Given the description of an element on the screen output the (x, y) to click on. 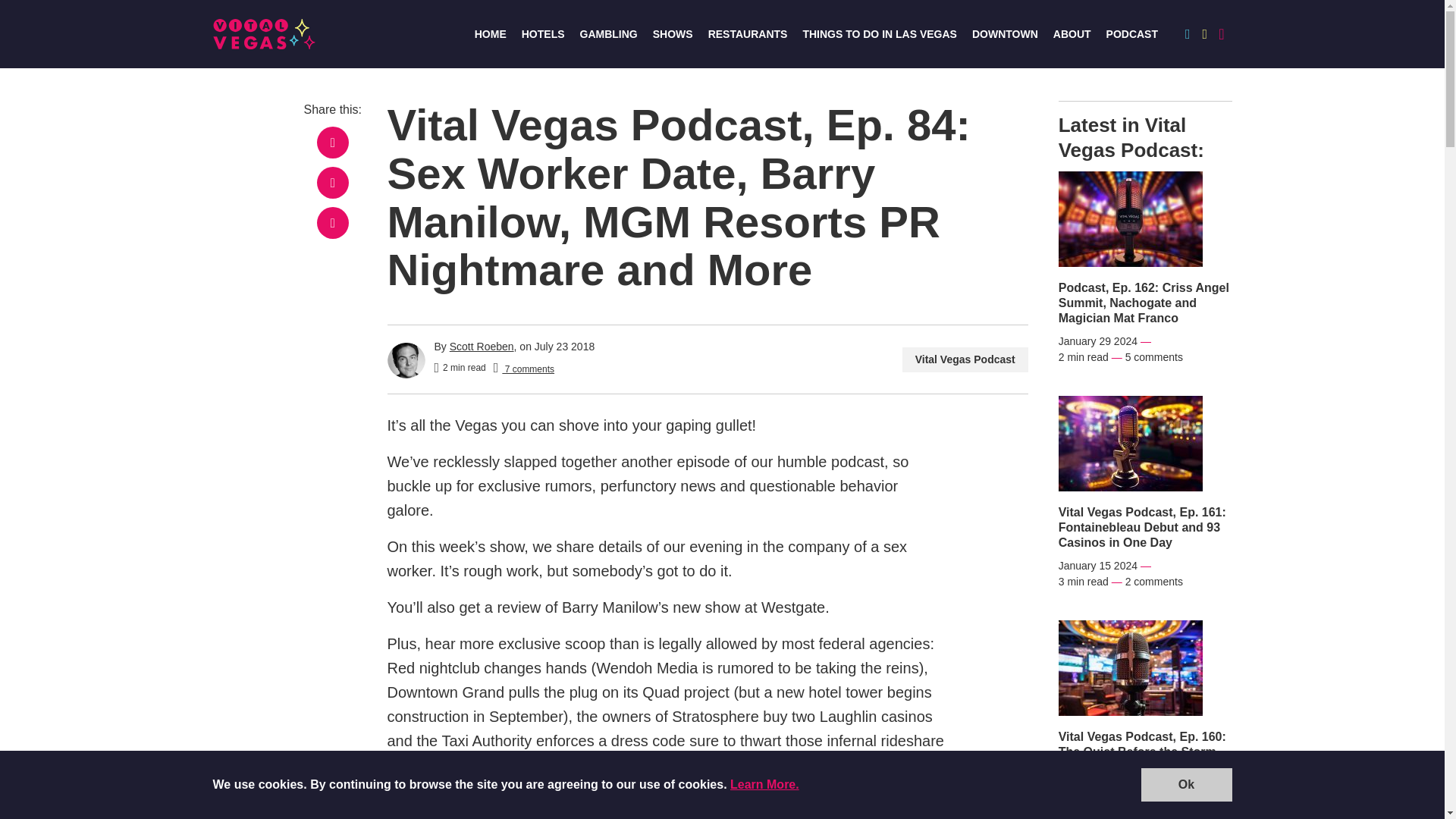
HOME (490, 33)
RESTAURANTS (747, 33)
HOTELS (542, 33)
THINGS TO DO IN LAS VEGAS (879, 33)
ABOUT (1071, 33)
Vital Vegas Podcast (964, 359)
DOWNTOWN (1005, 33)
SHOWS (672, 33)
Vital Vegas Podcast, Ep. 160: The Quiet Before the Storm (1144, 744)
7 comments (523, 367)
GAMBLING (608, 33)
Go (1201, 98)
Scott Roeben (481, 346)
PODCAST (1131, 33)
